Given the description of an element on the screen output the (x, y) to click on. 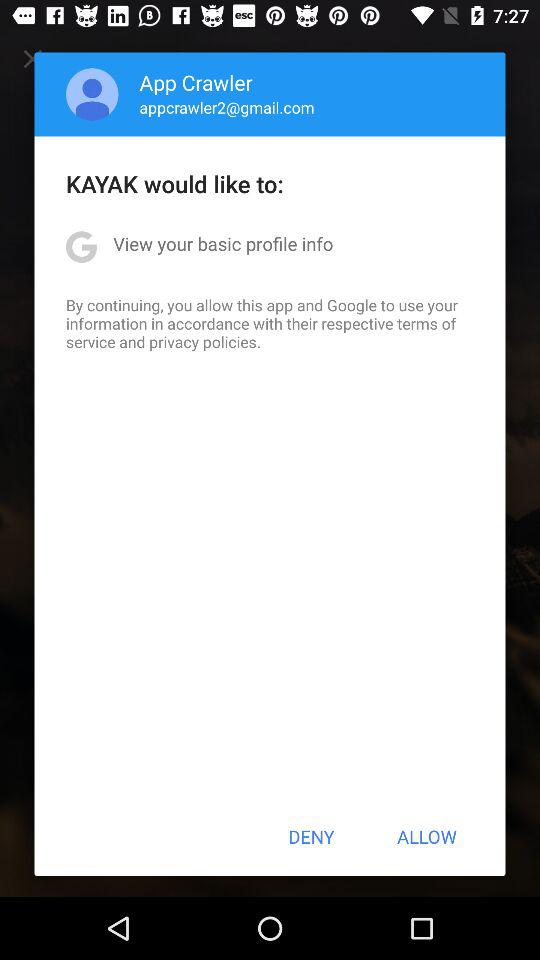
press the app below kayak would like app (223, 243)
